Given the description of an element on the screen output the (x, y) to click on. 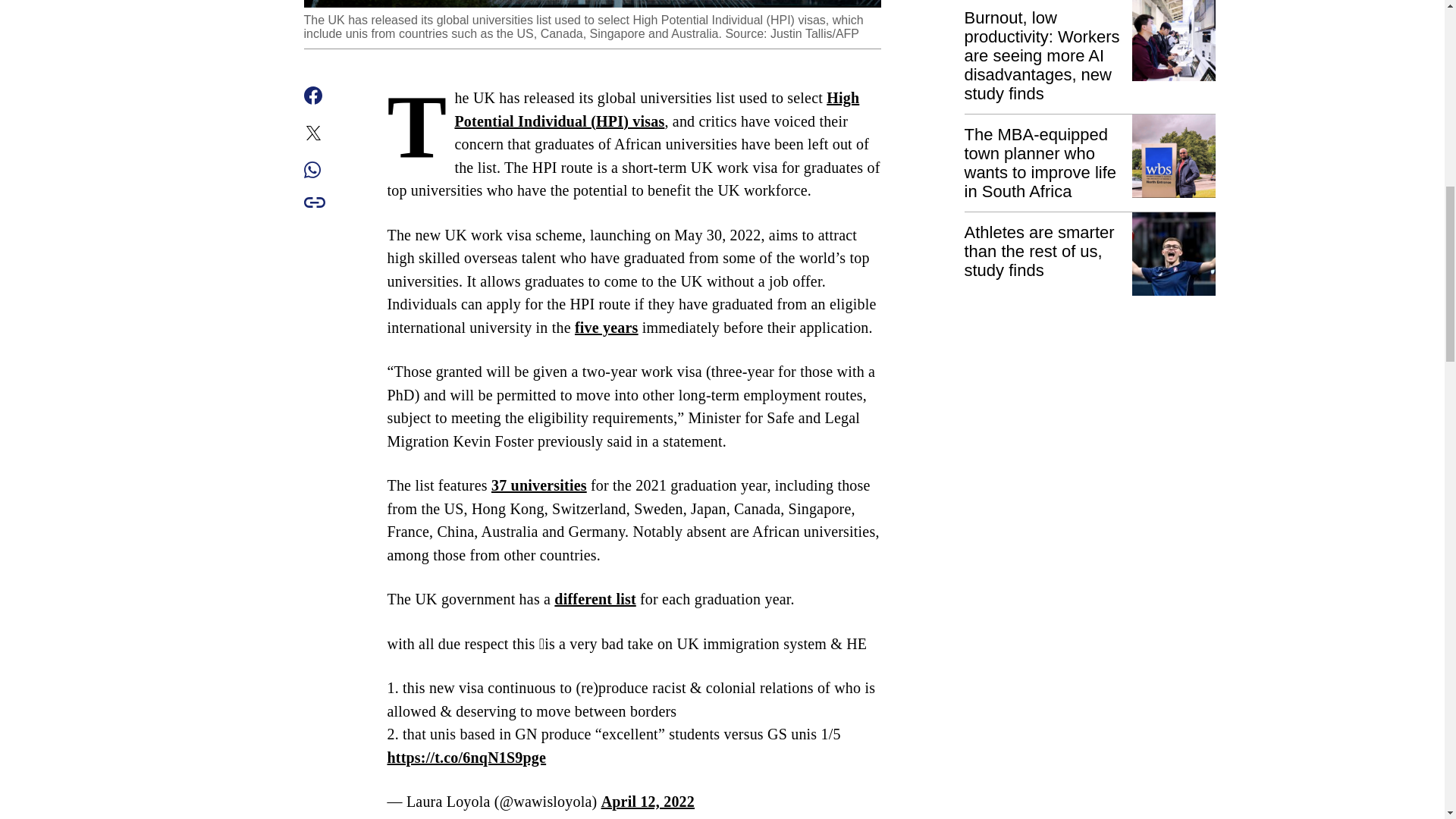
April 12, 2022 (647, 801)
five years (607, 327)
different list (594, 598)
Athletes are smarter than the rest of us, study finds (1089, 254)
37 universities (539, 484)
